Given the description of an element on the screen output the (x, y) to click on. 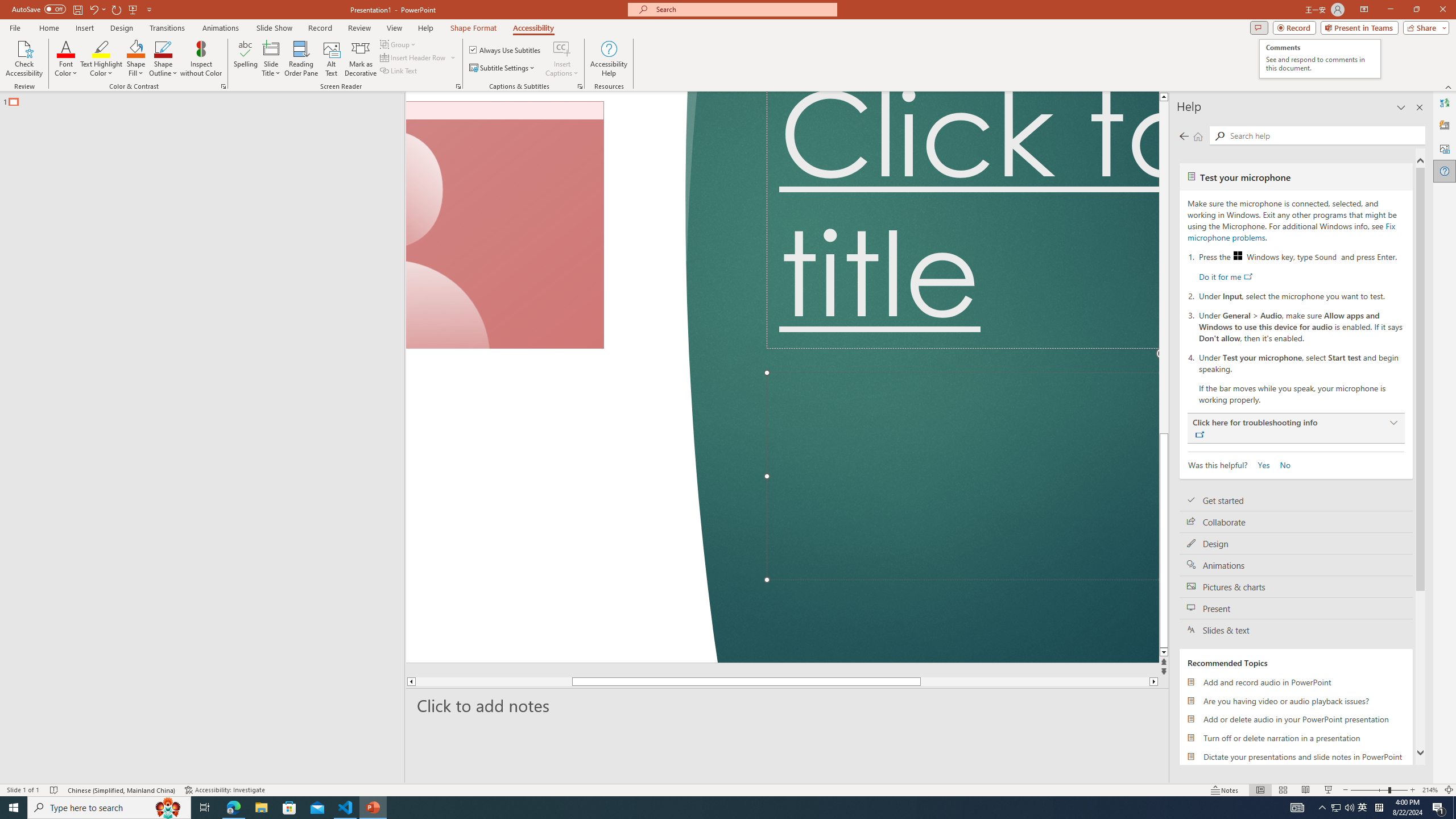
View (395, 28)
Font Color (65, 58)
Accessibility Help (608, 58)
Collaborate (1295, 522)
Reading Order Pane (301, 58)
Subtitle TextBox (962, 476)
More Options (561, 68)
Text Highlight Color Yellow (100, 48)
Restore Down (1416, 9)
Notes  (1225, 790)
Zoom Out (1370, 790)
Shape Format (473, 28)
Animations (220, 28)
